Given the description of an element on the screen output the (x, y) to click on. 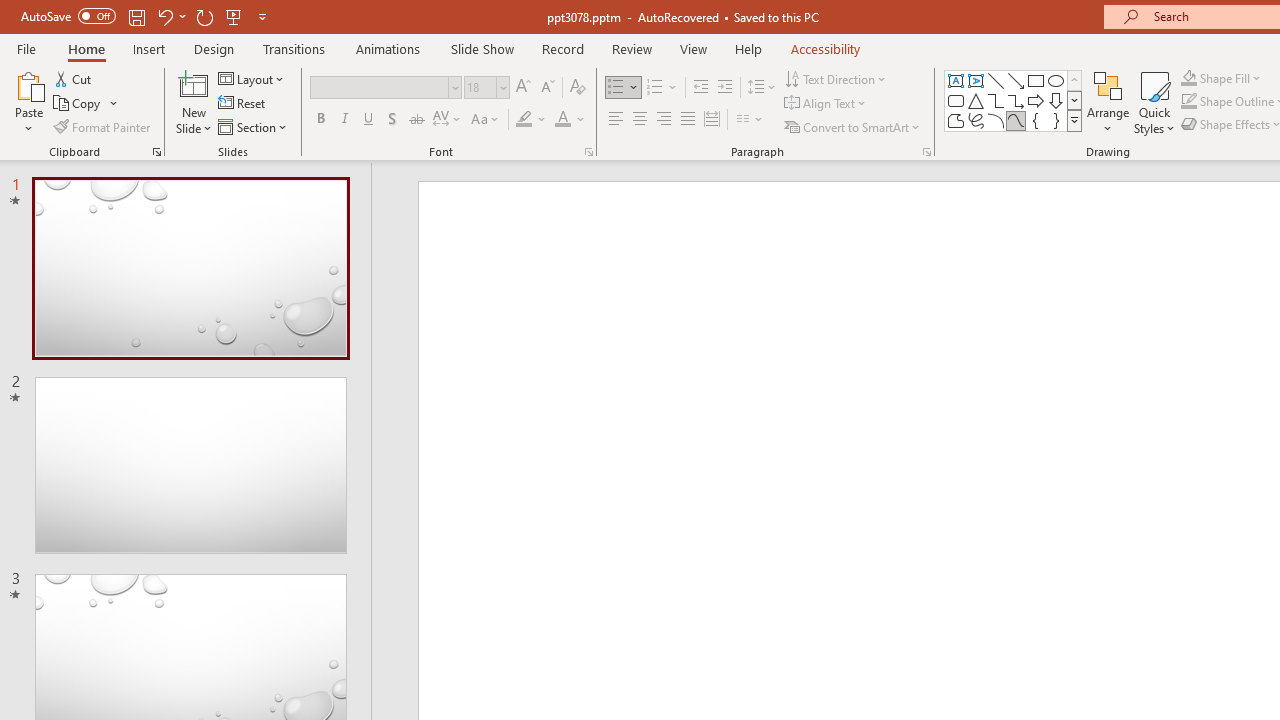
Freeform: Scribble (975, 120)
Align Text (826, 103)
Increase Font Size (522, 87)
Shape Outline Green, Accent 1 (1188, 101)
Convert to SmartArt (853, 126)
Rectangle (1035, 80)
Left Brace (1035, 120)
Line (995, 80)
Decrease Font Size (547, 87)
Arrange (1108, 102)
